Given the description of an element on the screen output the (x, y) to click on. 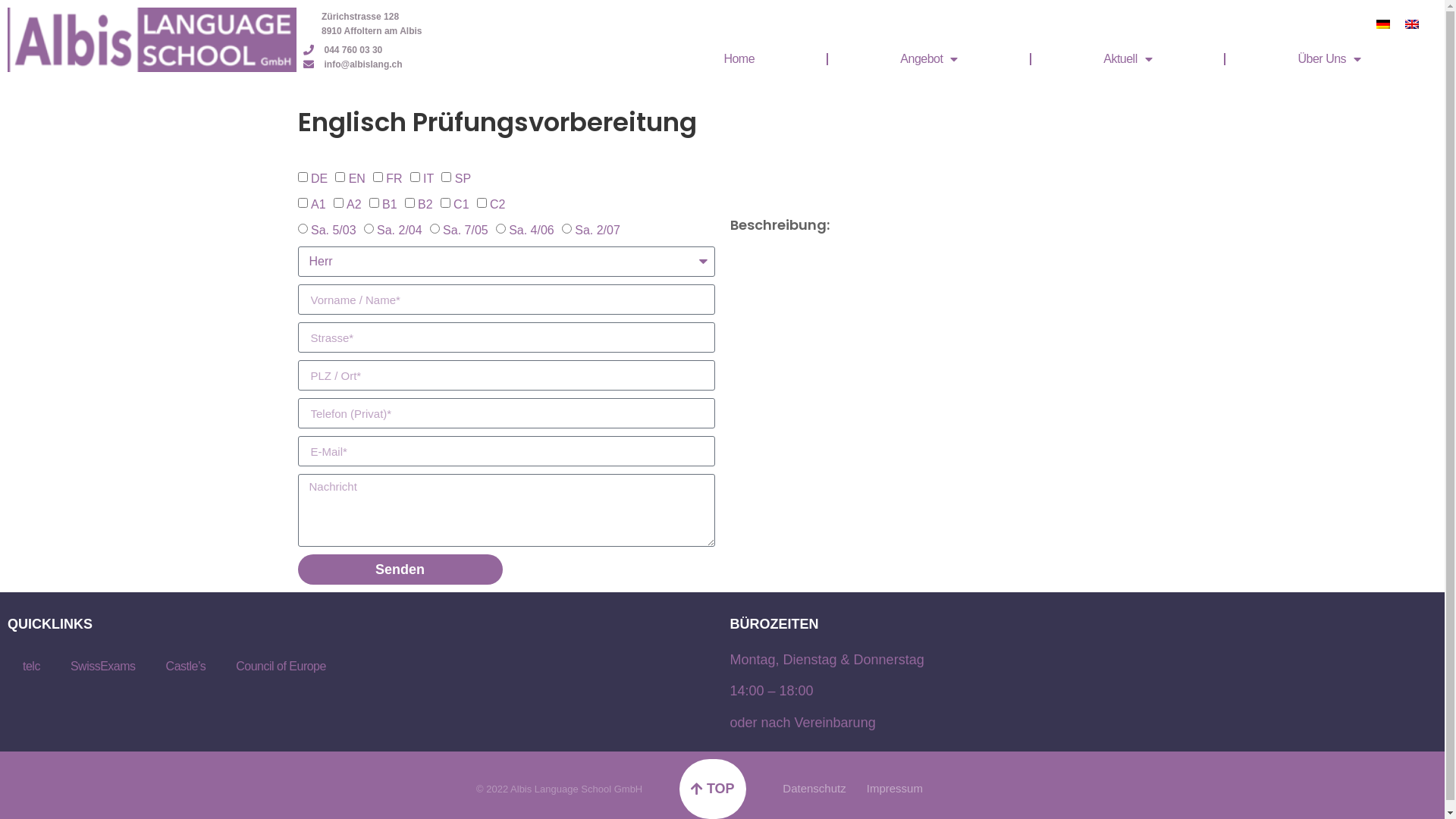
Angebot Element type: text (928, 58)
Datenschutz Element type: text (813, 788)
Senden Element type: text (399, 569)
Home Element type: text (738, 58)
SwissExams Element type: text (102, 666)
telc Element type: text (31, 666)
Impressum Element type: text (894, 788)
Council of Europe Element type: text (280, 666)
Aktuell Element type: text (1127, 58)
info@albislang.ch Element type: text (352, 64)
